Given the description of an element on the screen output the (x, y) to click on. 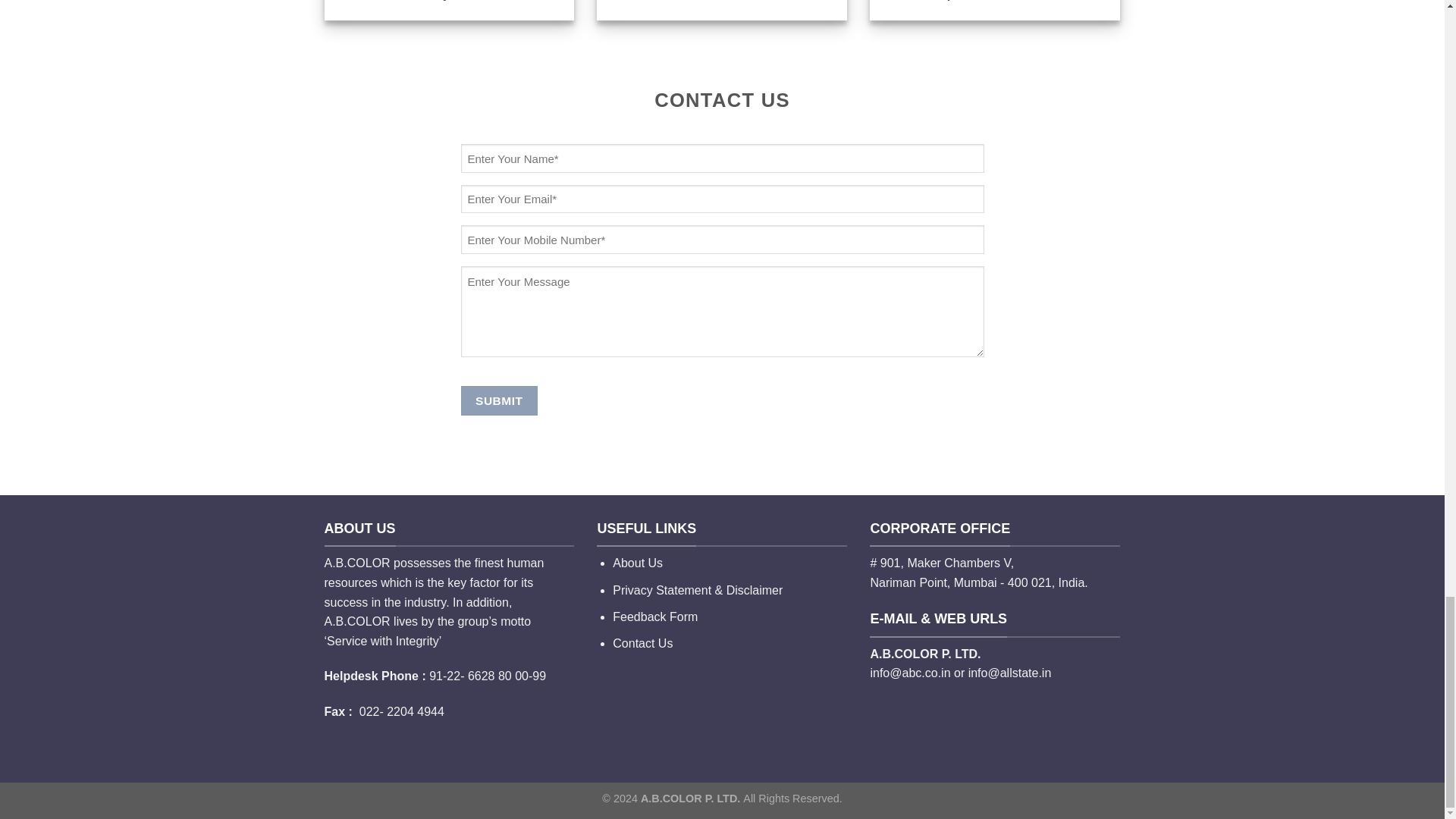
022- 2204 4944 (401, 711)
99 (539, 675)
Submit (499, 400)
91-22- 6628 80 00 (478, 675)
About Us (637, 562)
Submit (499, 400)
Feedback Form (654, 616)
Contact Us (642, 643)
